Given the description of an element on the screen output the (x, y) to click on. 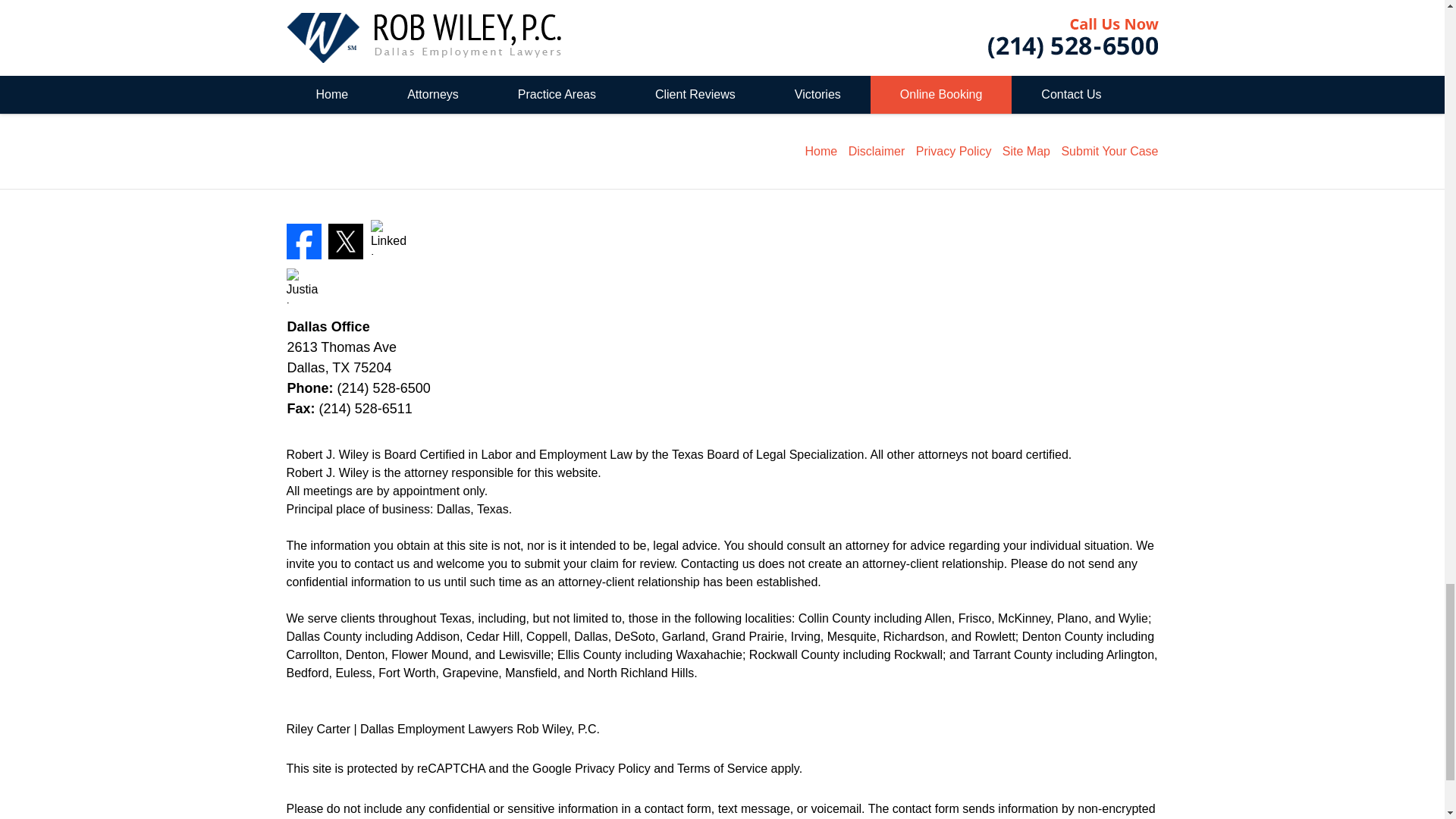
Justia (303, 285)
Twitter (345, 240)
Facebook (303, 240)
LinkedIn (388, 237)
